Given the description of an element on the screen output the (x, y) to click on. 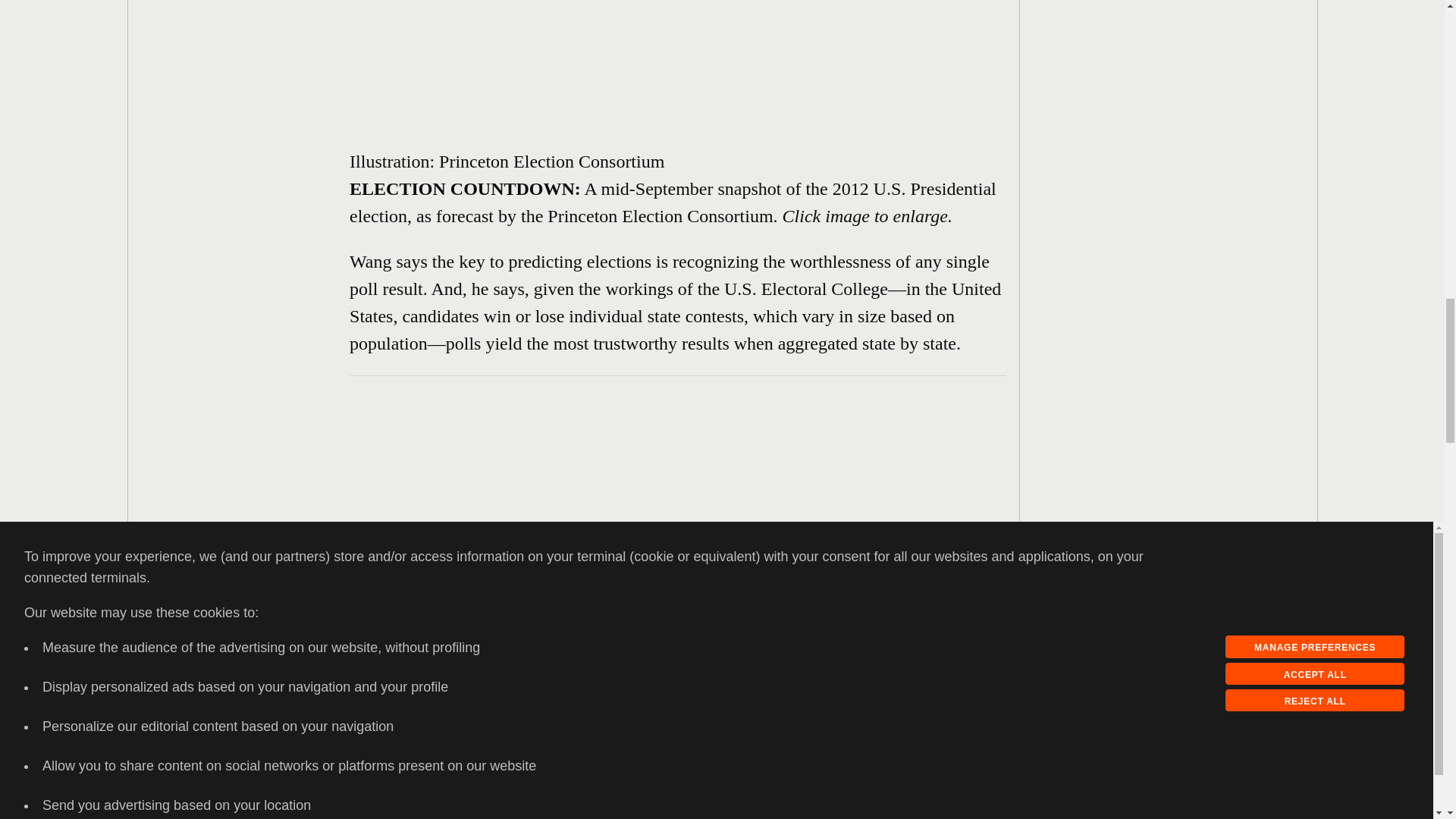
Illustration: Princeton Election Consortium (462, 119)
